Given the description of an element on the screen output the (x, y) to click on. 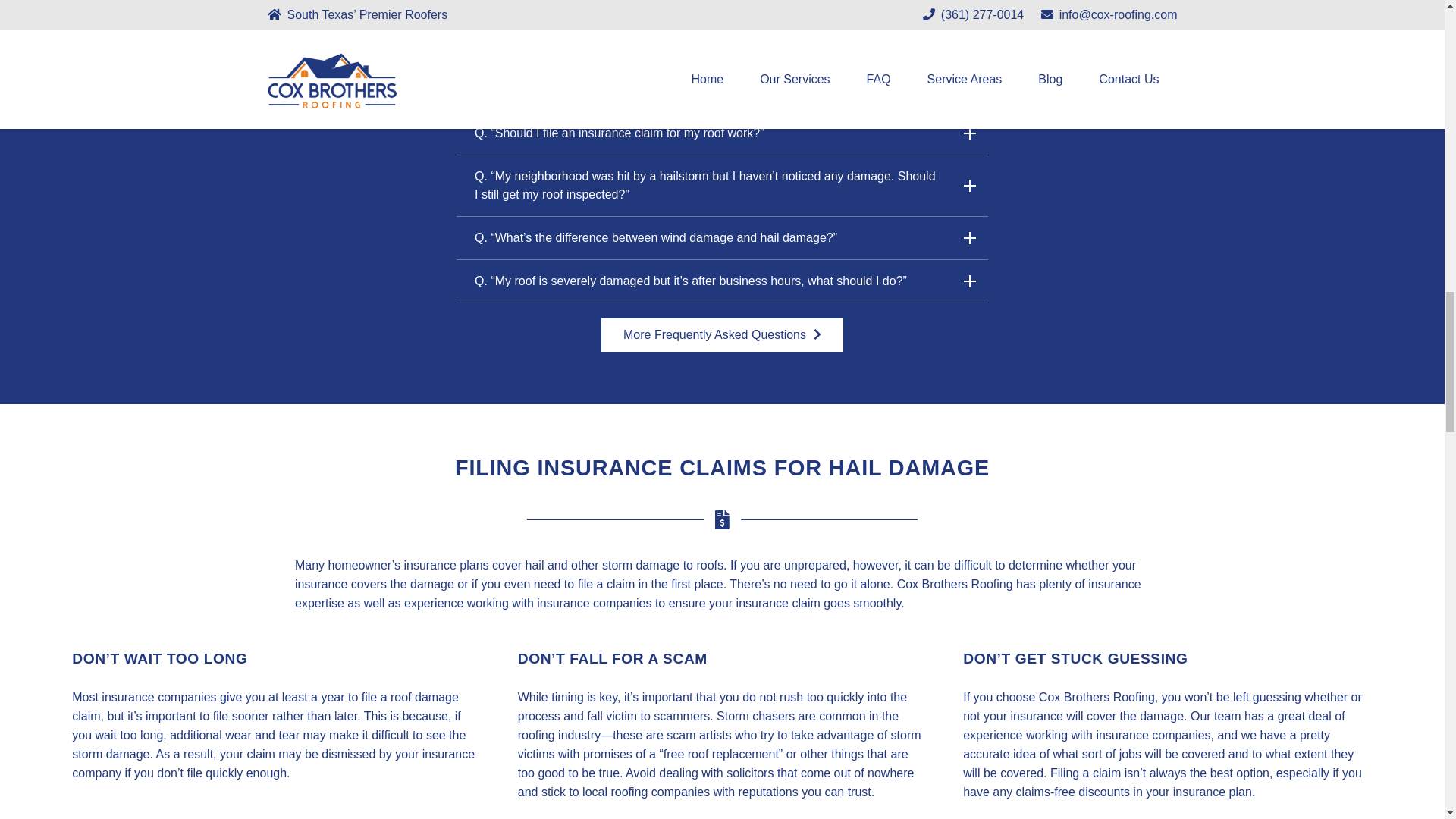
More Frequently Asked Questions (722, 335)
